Given the description of an element on the screen output the (x, y) to click on. 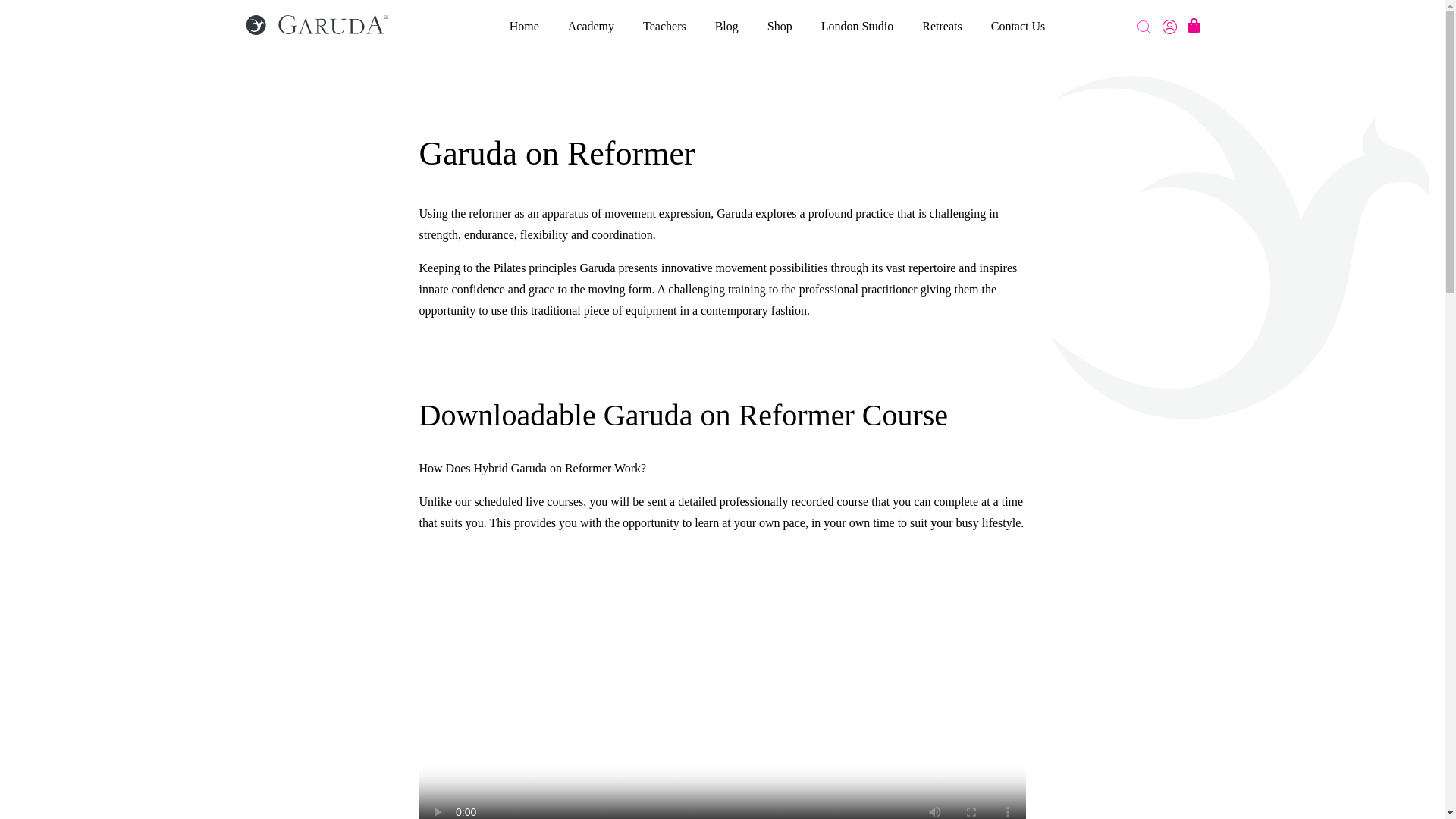
Contact Us (1018, 25)
Teachers (664, 25)
Retreats (940, 25)
London Studio (857, 25)
Blog (726, 25)
Academy (590, 25)
Home (523, 25)
Shop (779, 25)
